Given the description of an element on the screen output the (x, y) to click on. 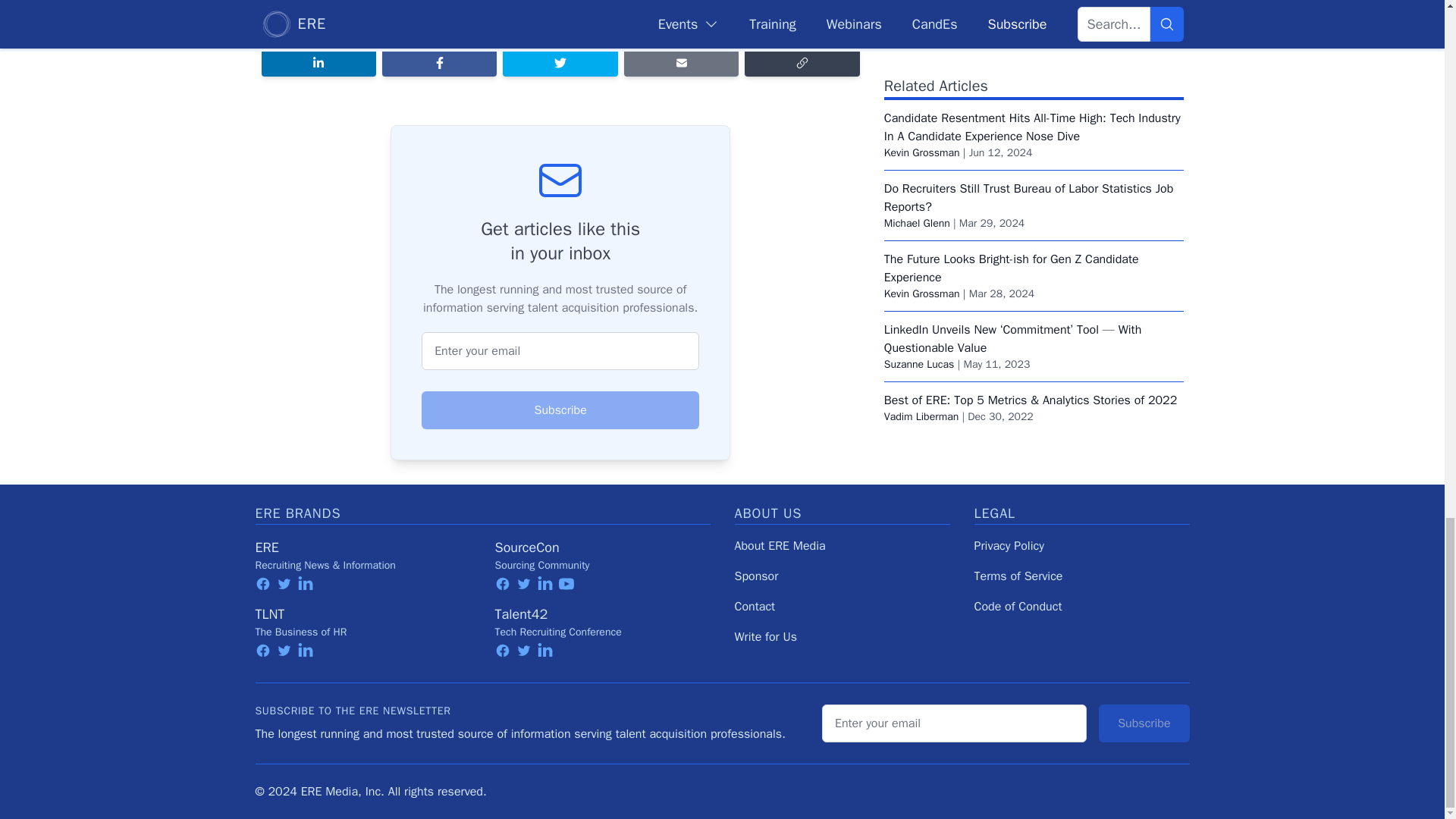
Kevin Grossman (921, 85)
Vadim Liberman (920, 349)
ERE (266, 547)
Suzanne Lucas (919, 297)
Michael Glenn (916, 155)
Kevin Grossman (921, 226)
facebook (261, 583)
Subscribe (560, 410)
